Given the description of an element on the screen output the (x, y) to click on. 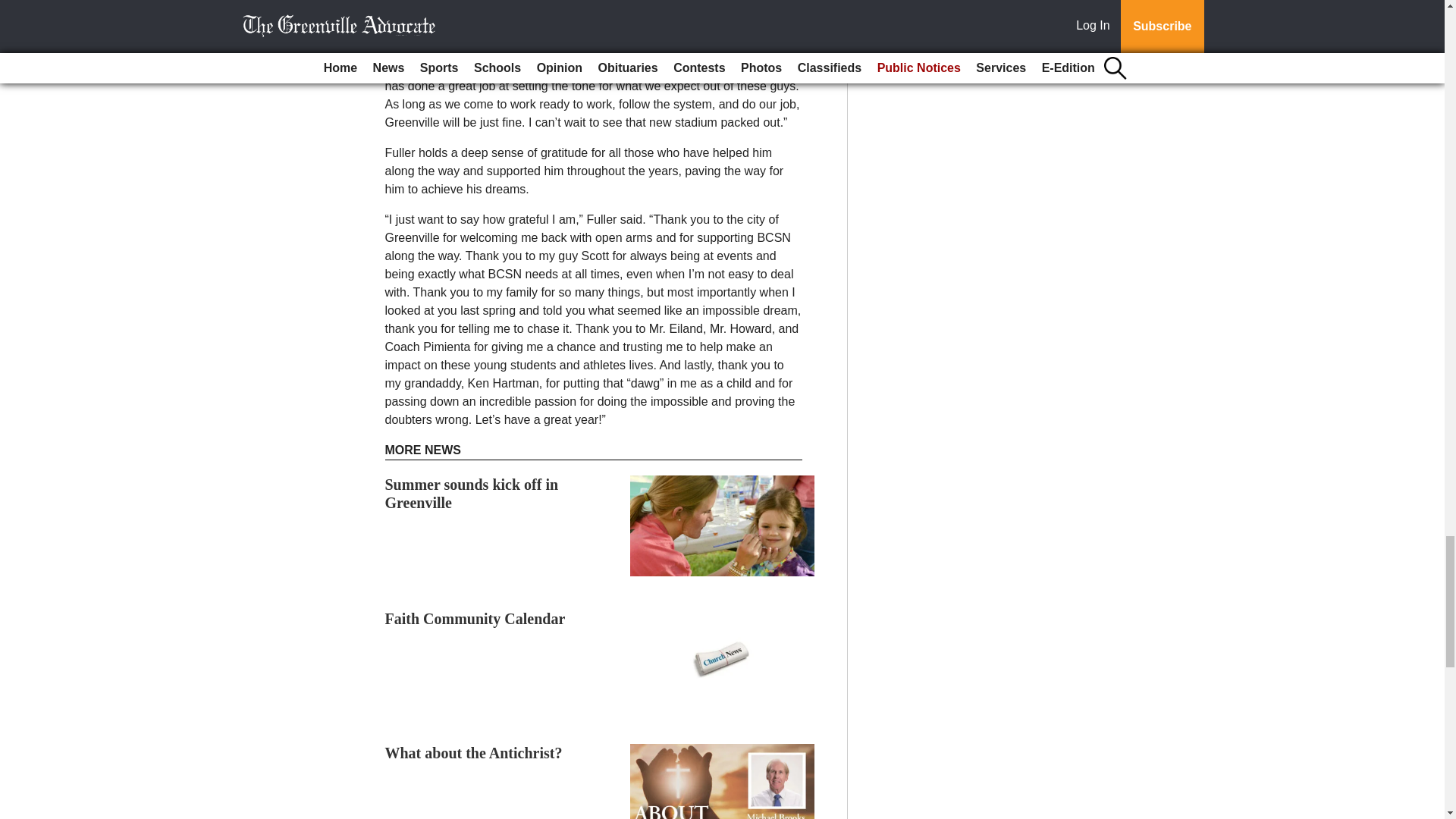
Faith Community Calendar (475, 618)
What about the Antichrist? (473, 752)
Summer sounds kick off in Greenville (472, 493)
Faith Community Calendar (475, 618)
What about the Antichrist? (473, 752)
Summer sounds kick off in Greenville (472, 493)
